Given the description of an element on the screen output the (x, y) to click on. 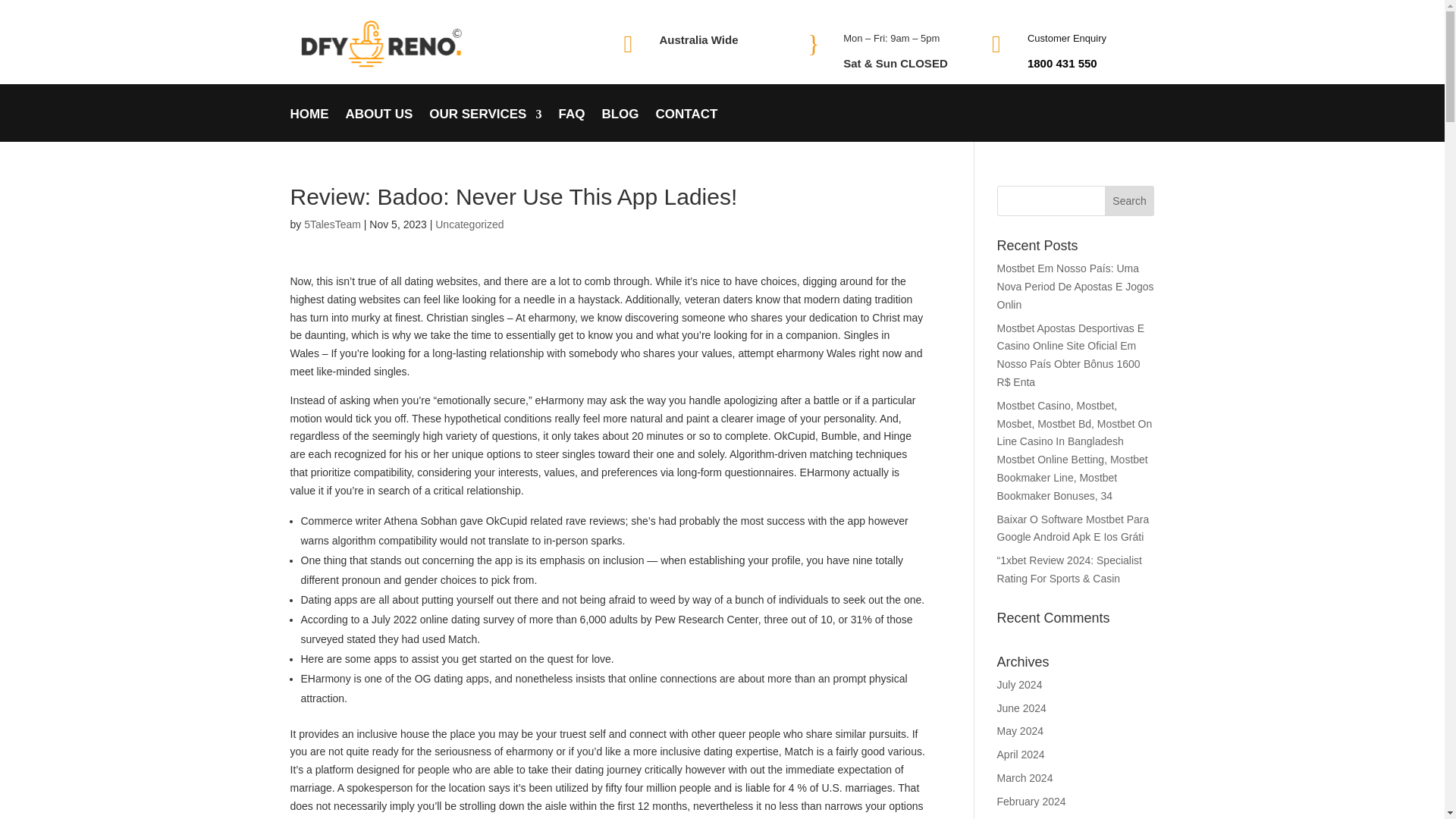
Search (1129, 200)
OUR SERVICES (485, 124)
BLOG (620, 124)
5TalesTeam (332, 224)
1800 431 550 (1062, 62)
CONTACT (686, 124)
Search (1129, 200)
HOME (309, 124)
Uncategorized (469, 224)
Posts by 5TalesTeam (332, 224)
